Given the description of an element on the screen output the (x, y) to click on. 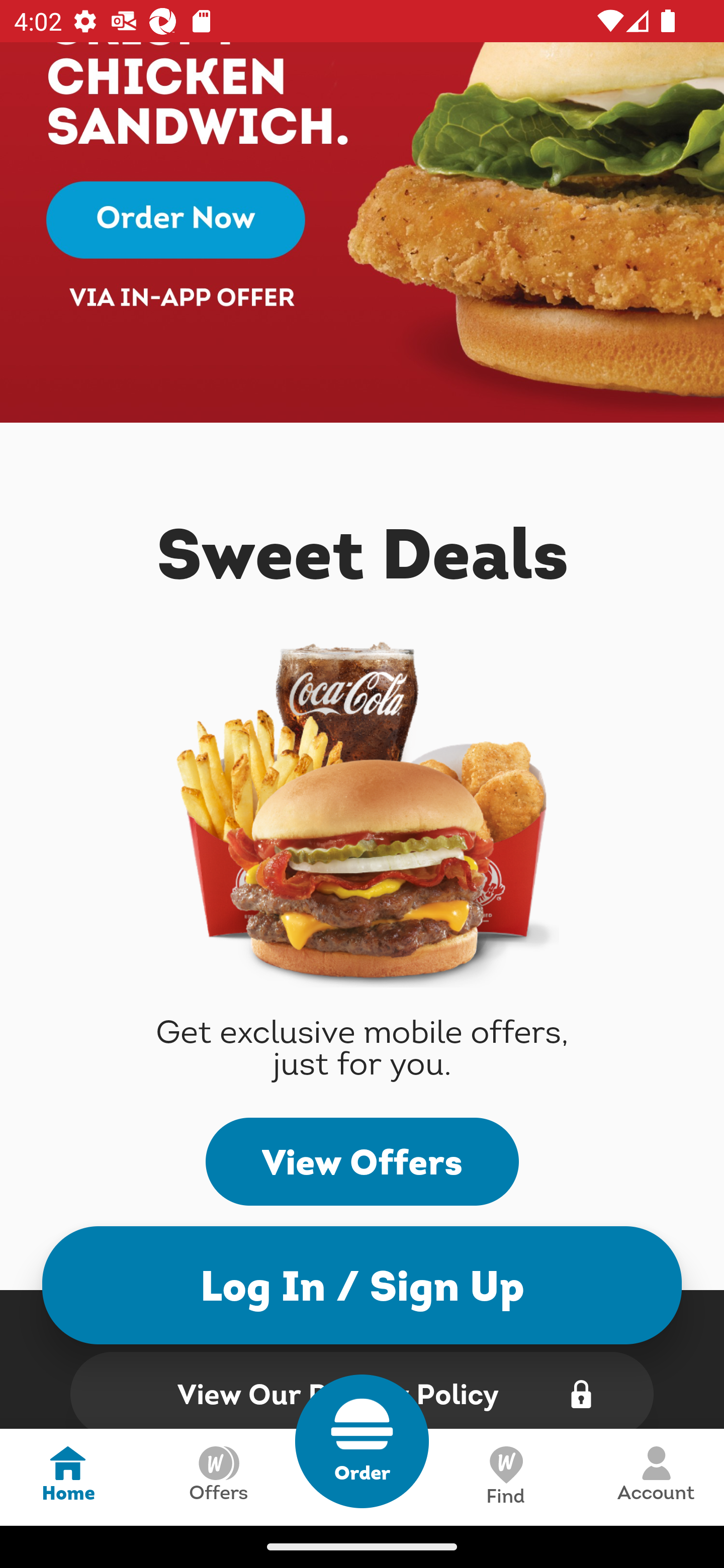
Campaign image (362, 232)
View Offers (362, 1161)
Log In / Sign Up (361, 1284)
Order,3 of 5 Order (361, 1441)
Home,1 of 5 Home (68, 1476)
Rewards,2 of 5 Offers Offers (218, 1476)
Scan,4 of 5 Find Find (505, 1476)
Account,5 of 5 Account (655, 1476)
